Given the description of an element on the screen output the (x, y) to click on. 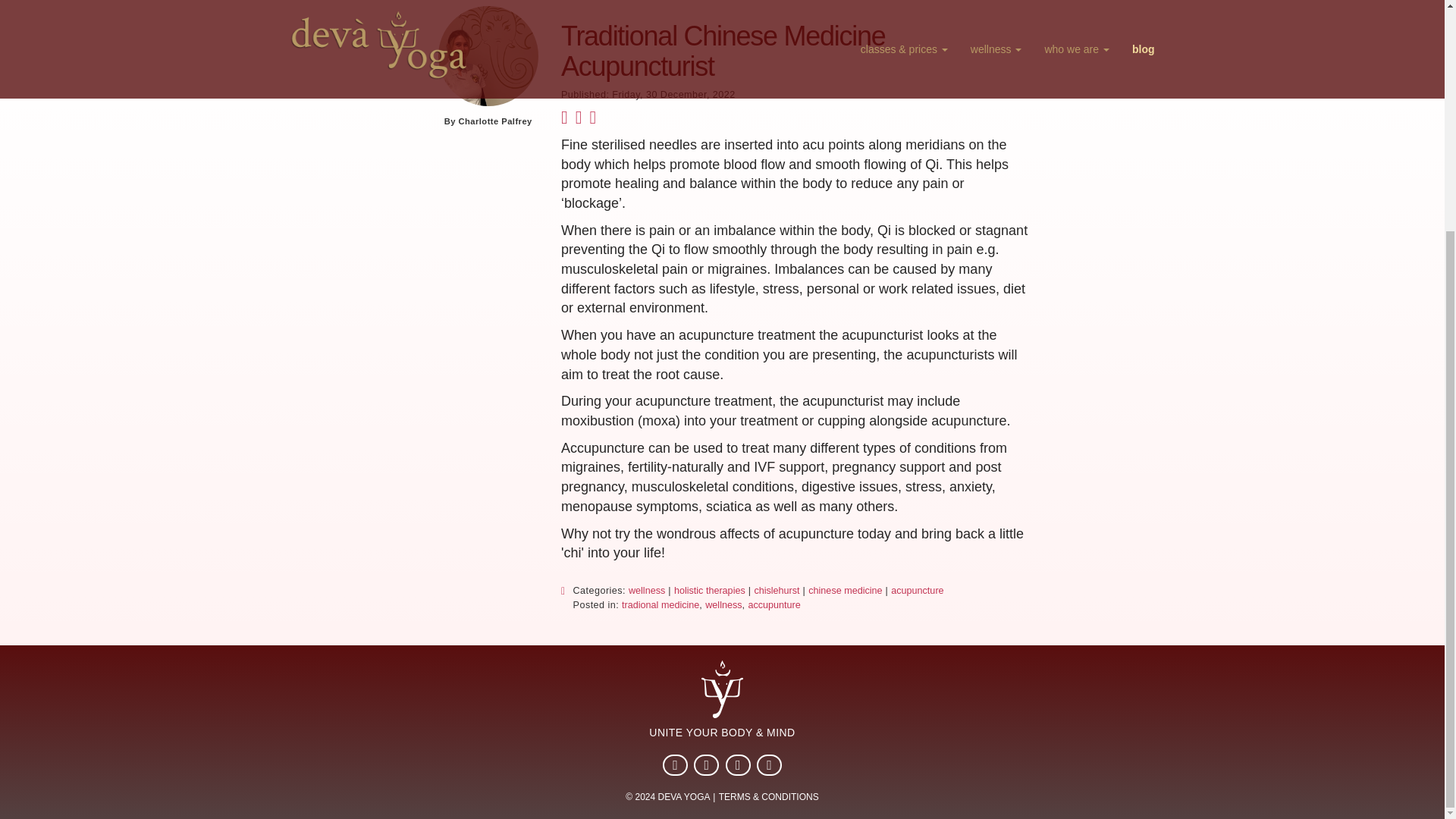
holistic therapies (709, 591)
wellness (646, 591)
acupuncture (917, 591)
wellness (722, 604)
chinese medicine (845, 591)
accupunture (773, 604)
tradional medicine (659, 604)
chislehurst (776, 591)
